Given the description of an element on the screen output the (x, y) to click on. 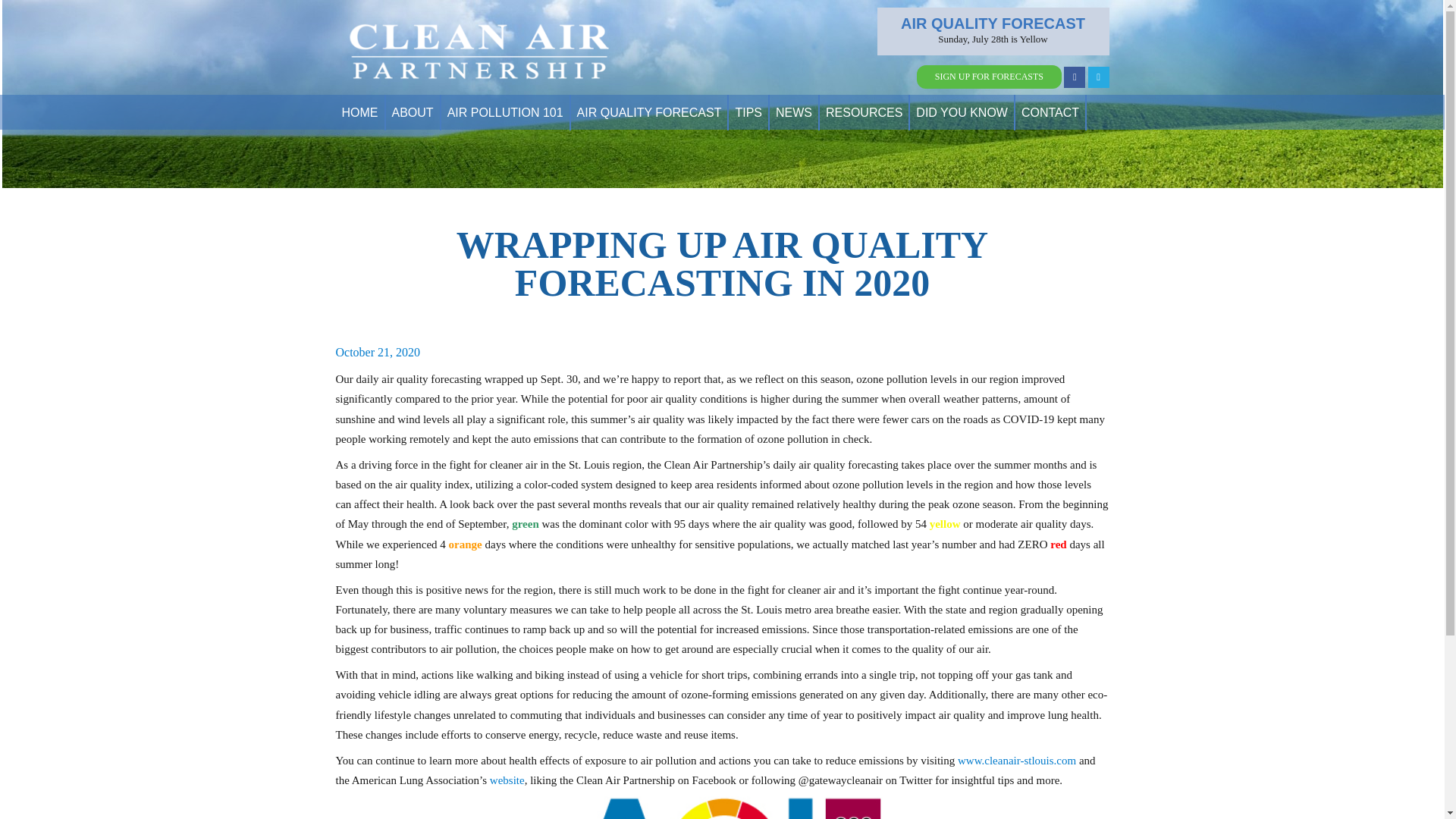
website (506, 779)
www.cleanair-stlouis.com (1016, 760)
AIR POLLUTION 101 (505, 112)
CONTACT (1049, 112)
SIGN UP FOR FORECASTS (989, 76)
ABOUT (412, 112)
HOME (359, 112)
DID YOU KNOW (961, 112)
NEWS (794, 112)
AIR QUALITY FORECAST (649, 112)
TIPS (748, 112)
RESOURCES (863, 112)
October 21, 2020 (377, 351)
